Given the description of an element on the screen output the (x, y) to click on. 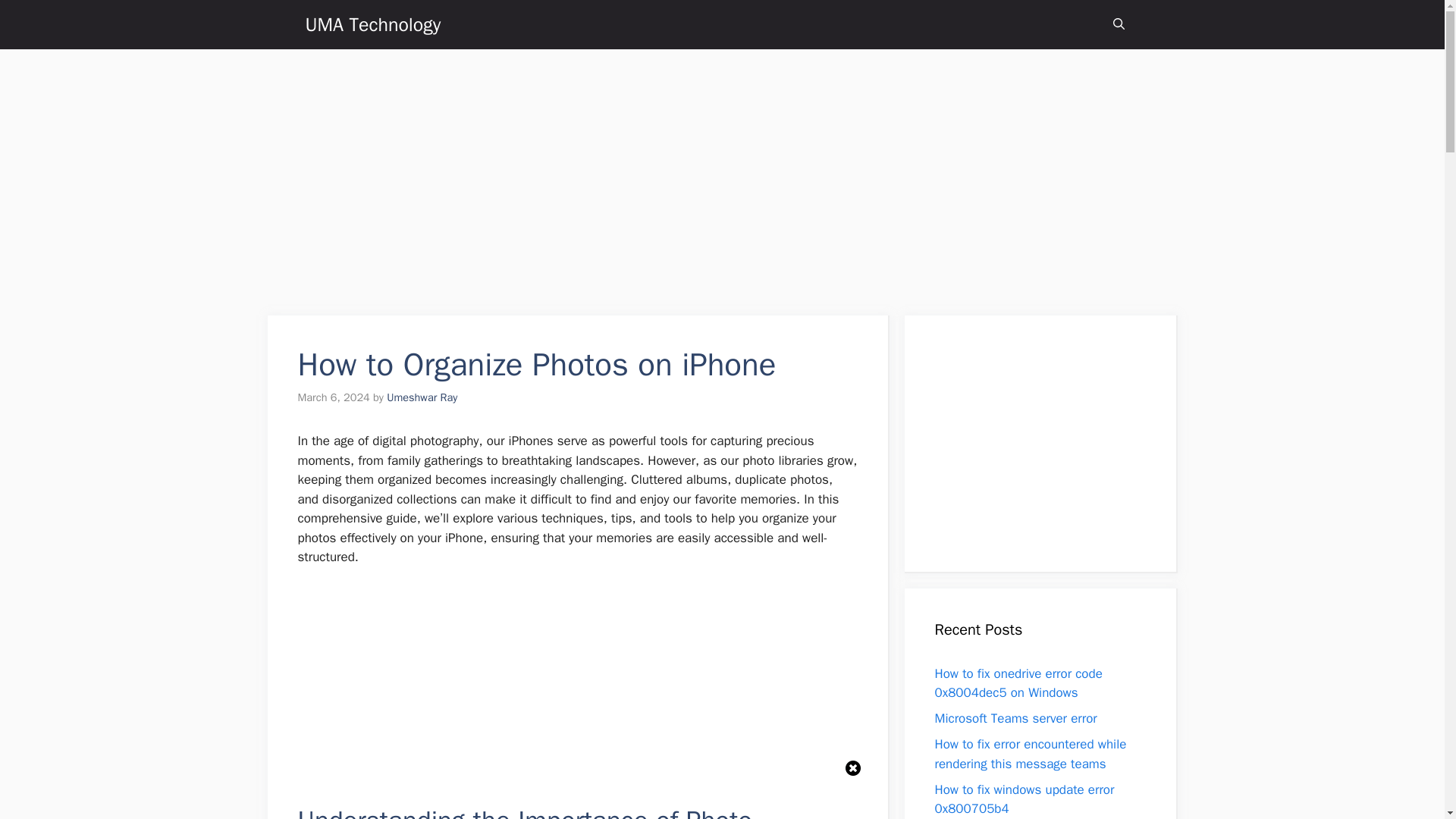
How to fix windows update error 0x800705b4 (1023, 798)
View all posts by Umeshwar Ray (422, 397)
Microsoft Teams server error (1015, 718)
How to fix onedrive error code 0x8004dec5 on Windows (1018, 683)
Advertisement (1047, 440)
Advertisement (576, 692)
Umeshwar Ray (422, 397)
UMA Technology (372, 24)
